Given the description of an element on the screen output the (x, y) to click on. 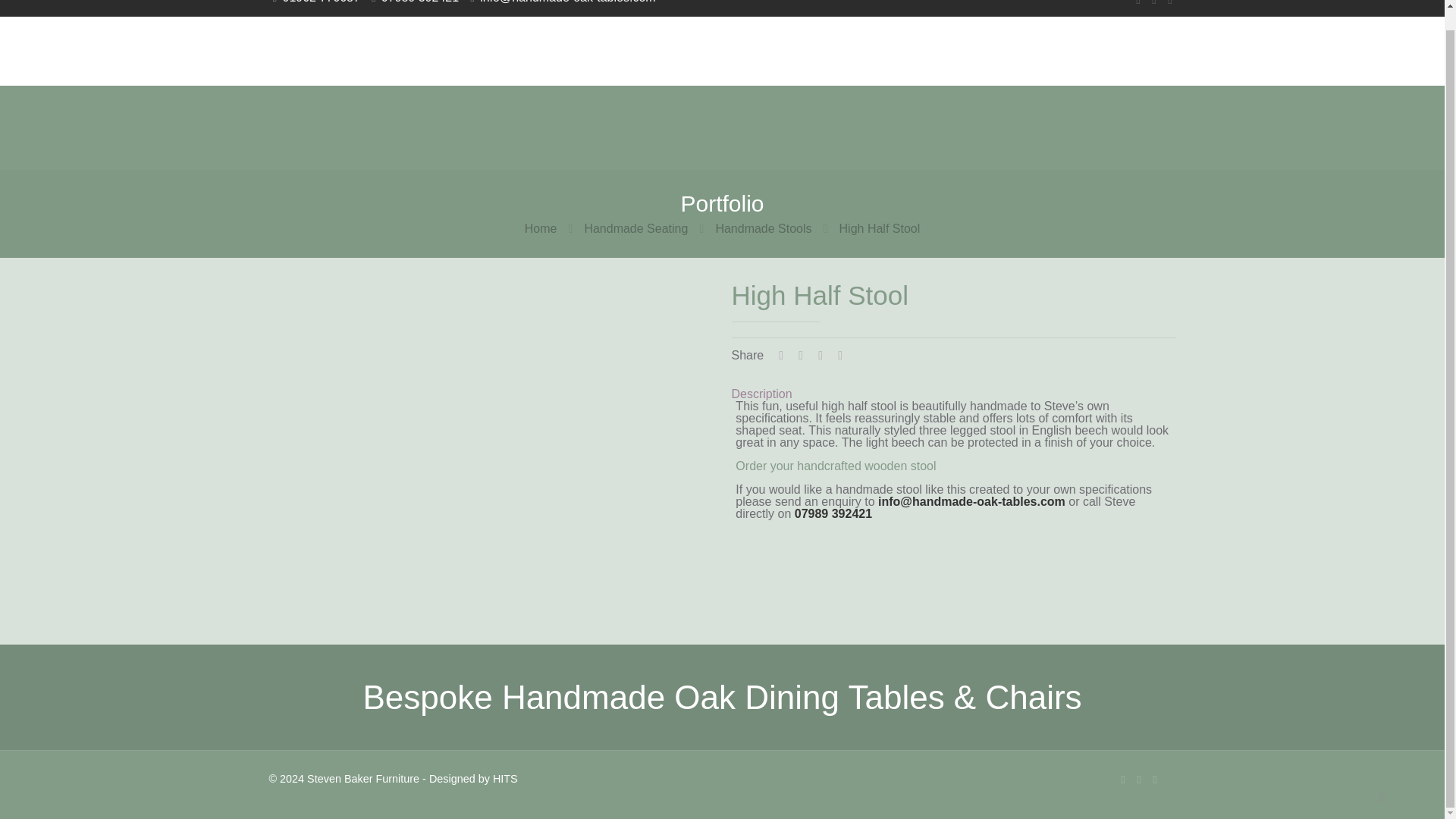
Description (761, 393)
Commissions (826, 50)
Facebook (1138, 2)
01962 776687 (320, 2)
Seating (619, 50)
About (1050, 50)
Instagram (1170, 2)
Tables (538, 50)
Home (540, 228)
07989 392421 (833, 513)
Furniture (712, 50)
Facebook (1123, 779)
Instagram (1155, 779)
Contact (1131, 50)
Pinterest (1138, 779)
